Given the description of an element on the screen output the (x, y) to click on. 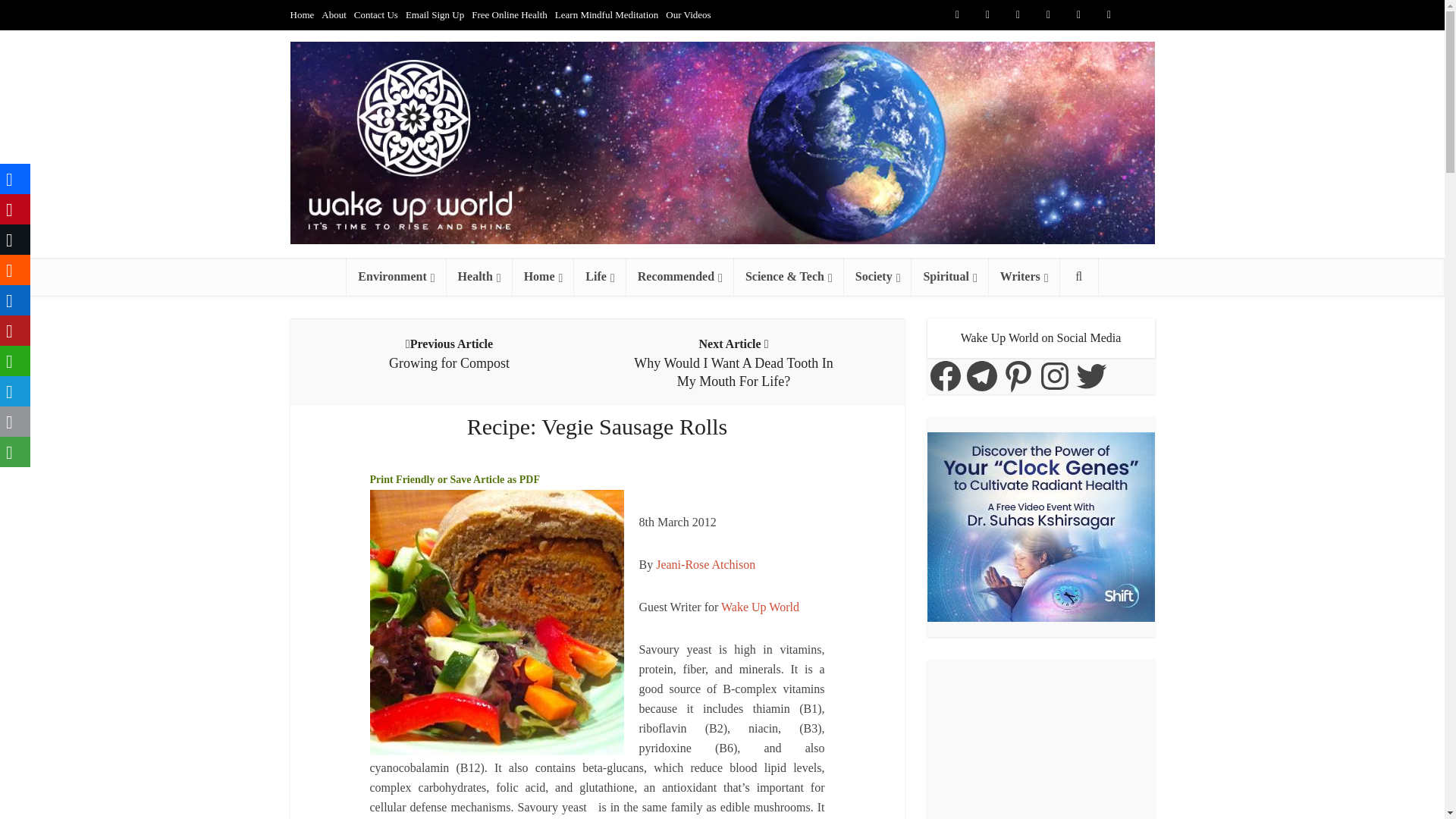
Email Sign Up (435, 14)
Free Online Health (509, 14)
Jeani-Rose on Facebook (705, 563)
Home (301, 14)
Learn Mindful Meditation (606, 14)
Articles recommended by WuW (679, 276)
Health (479, 276)
VegSR (496, 622)
Contact Us (375, 14)
Our Videos (687, 14)
About (333, 14)
Telegram (1139, 15)
Environment (395, 276)
